Given the description of an element on the screen output the (x, y) to click on. 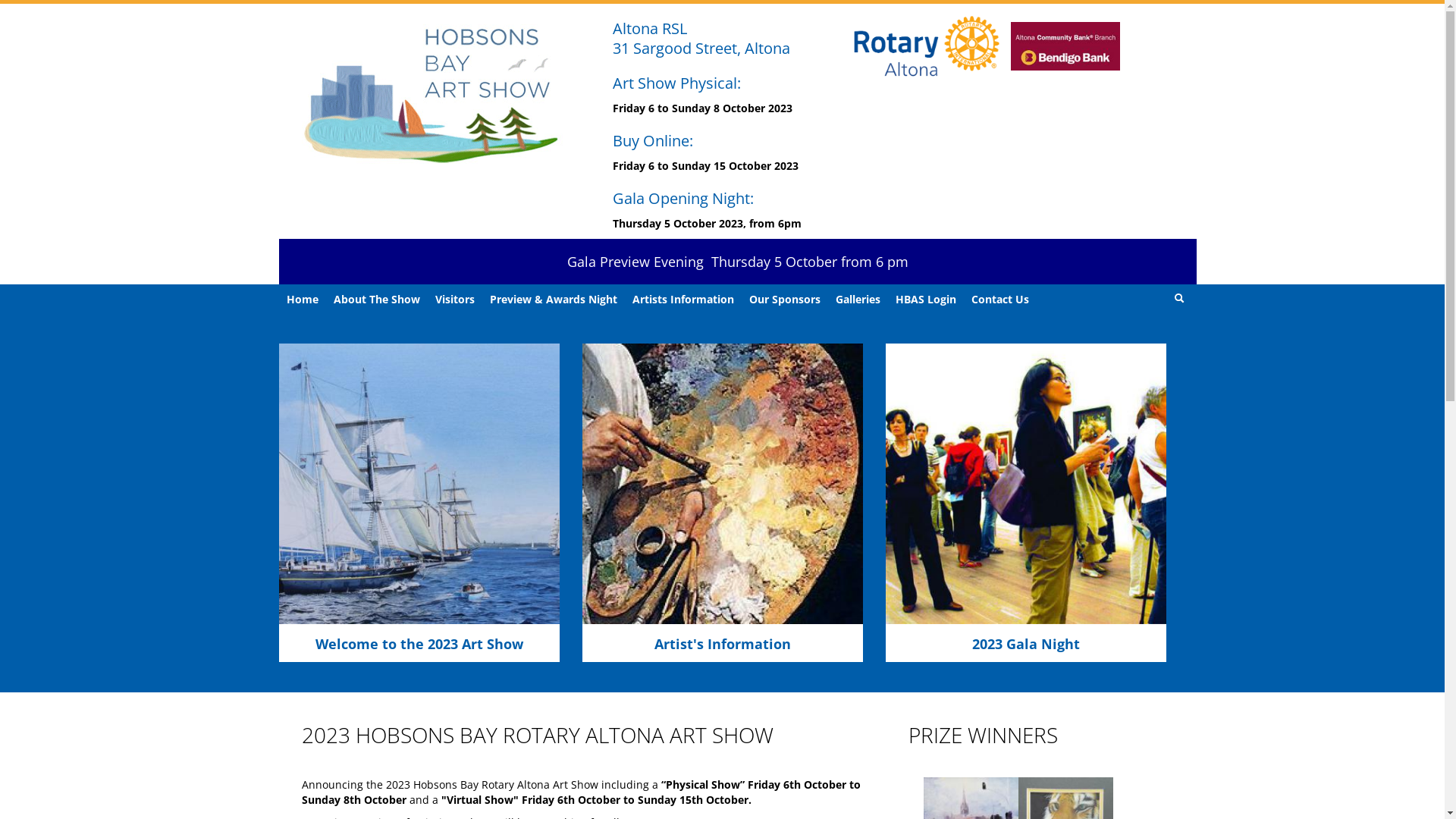
Buy Online: Element type: text (652, 140)
Welcome to the 2023 Art Show Element type: text (419, 643)
HBAS Login Element type: text (925, 299)
Our Sponsors Element type: text (784, 299)
Contact Us Element type: text (999, 299)
Artist's Information Element type: text (721, 643)
Artists Information Element type: text (682, 299)
Home Element type: text (302, 299)
Gala Preview Evening  Thursday 5 October from 6 pm Element type: text (737, 261)
Art Show Physical: Element type: text (676, 82)
Preview & Awards Night Element type: text (553, 299)
Galleries Element type: text (858, 299)
2023 Gala Night Element type: text (1025, 643)
Visitors Element type: text (454, 299)
Altona Community Bank Branches - Bendigo Bank Element type: hover (1064, 46)
About The Show Element type: text (376, 299)
